Given the description of an element on the screen output the (x, y) to click on. 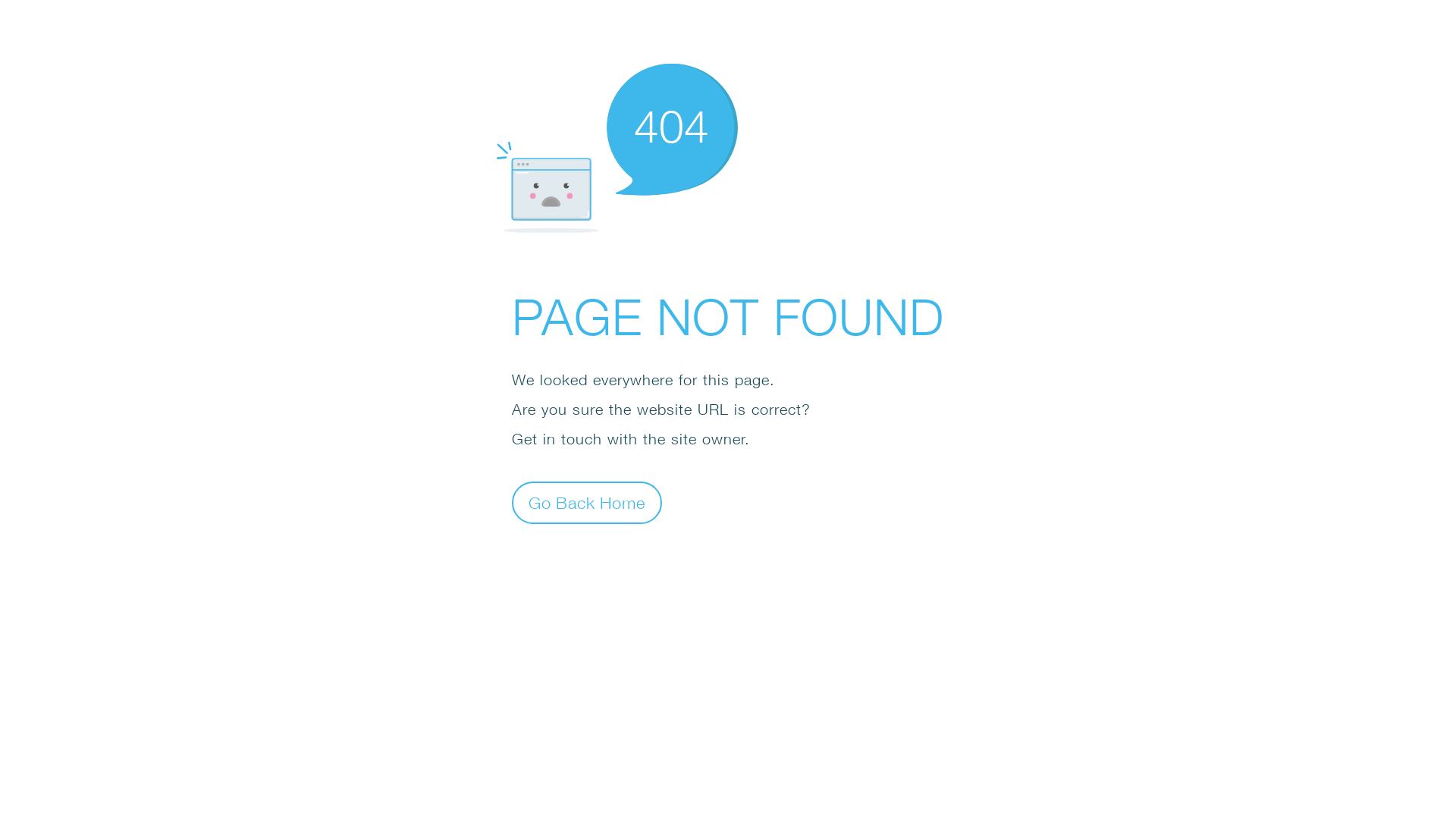
Go Back Home Element type: text (586, 502)
